Given the description of an element on the screen output the (x, y) to click on. 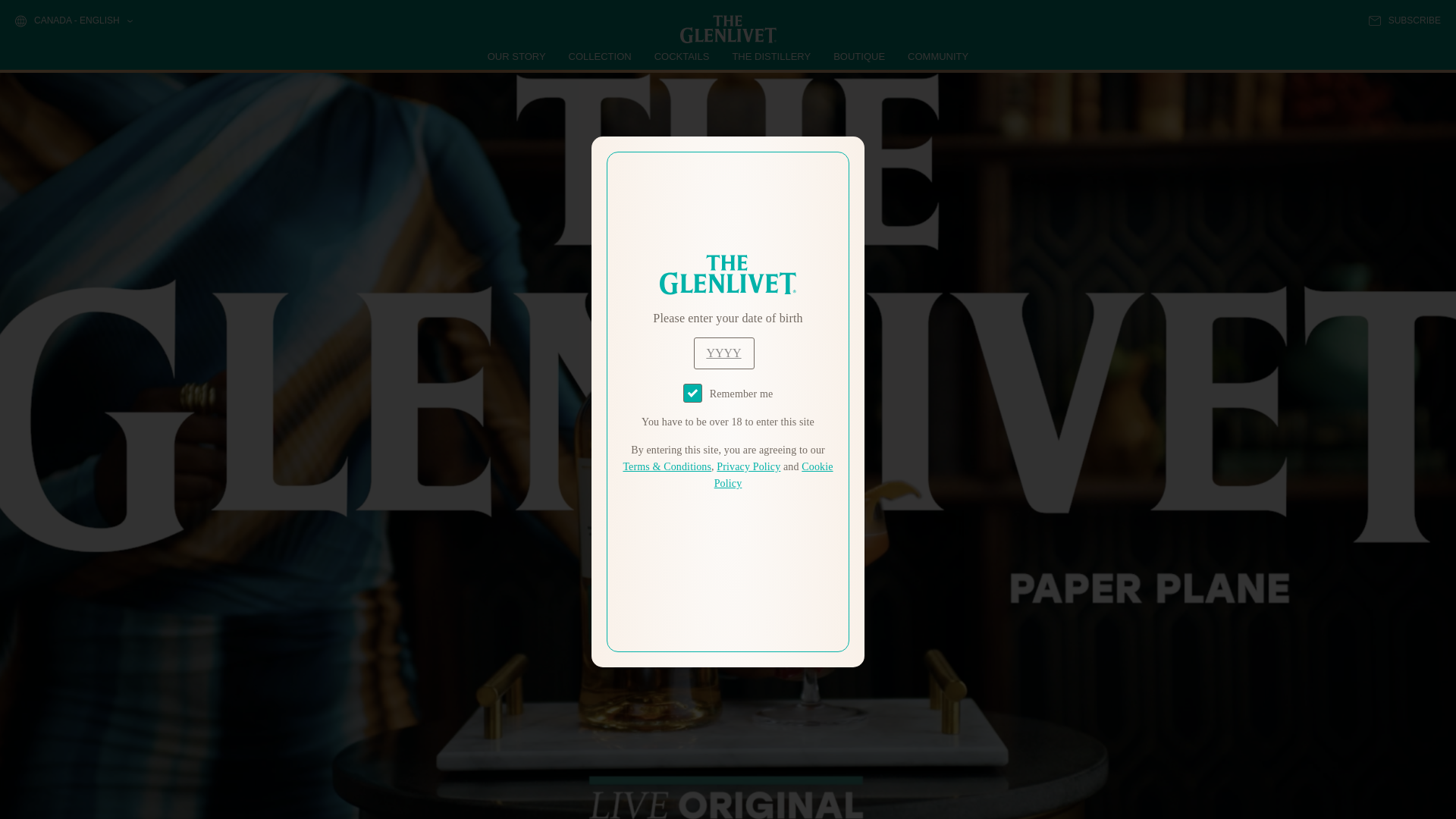
Privacy Policy (748, 466)
SUBSCRIBE (1404, 20)
BOUTIQUE (858, 56)
COLLECTION (600, 56)
OUR STORY (516, 56)
COCKTAILS (681, 56)
year (723, 353)
CANADA - ENGLISH (73, 21)
THE DISTILLERY (771, 56)
Cookie Policy (773, 474)
